Given the description of an element on the screen output the (x, y) to click on. 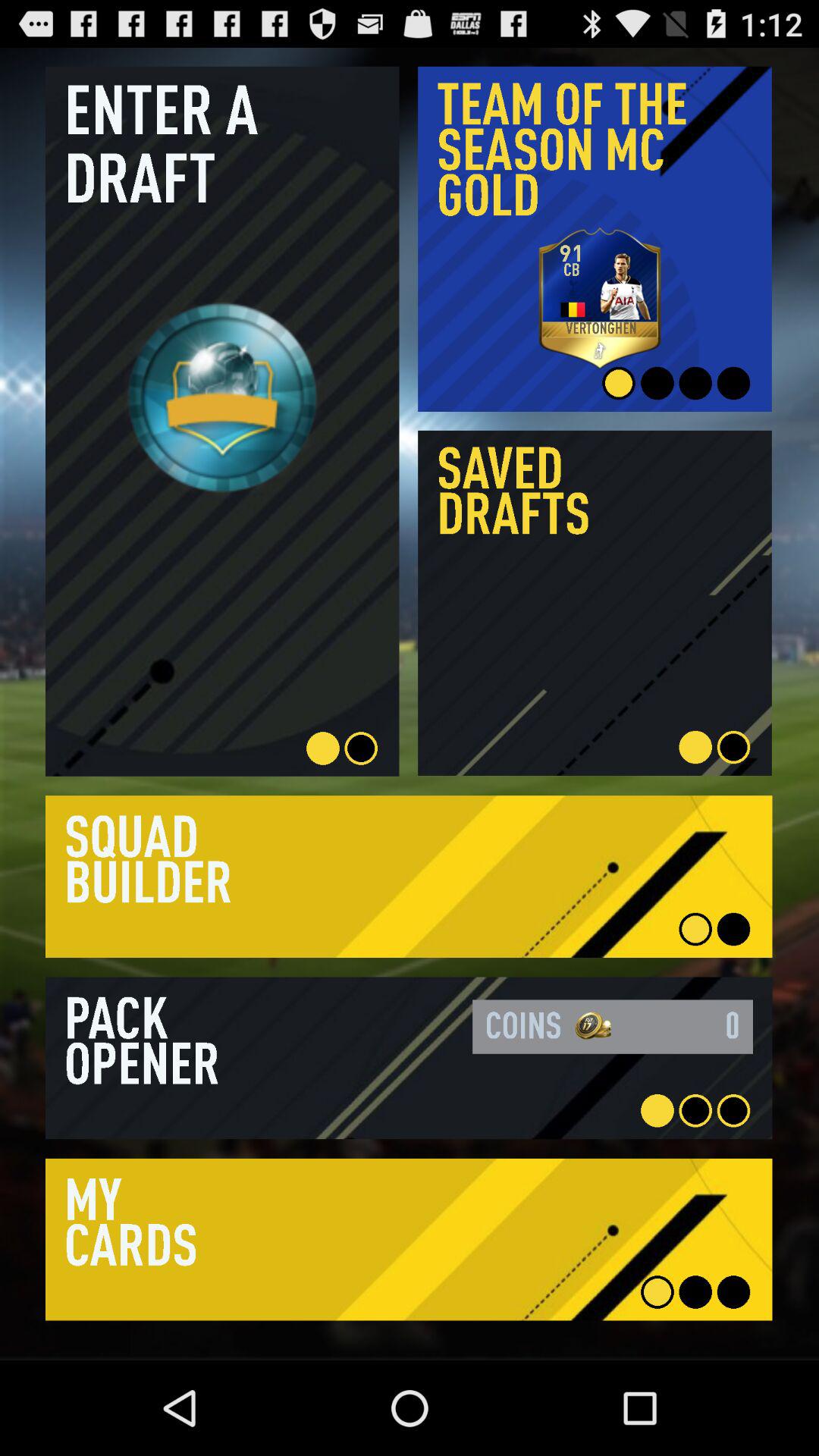
new click option (594, 602)
